Given the description of an element on the screen output the (x, y) to click on. 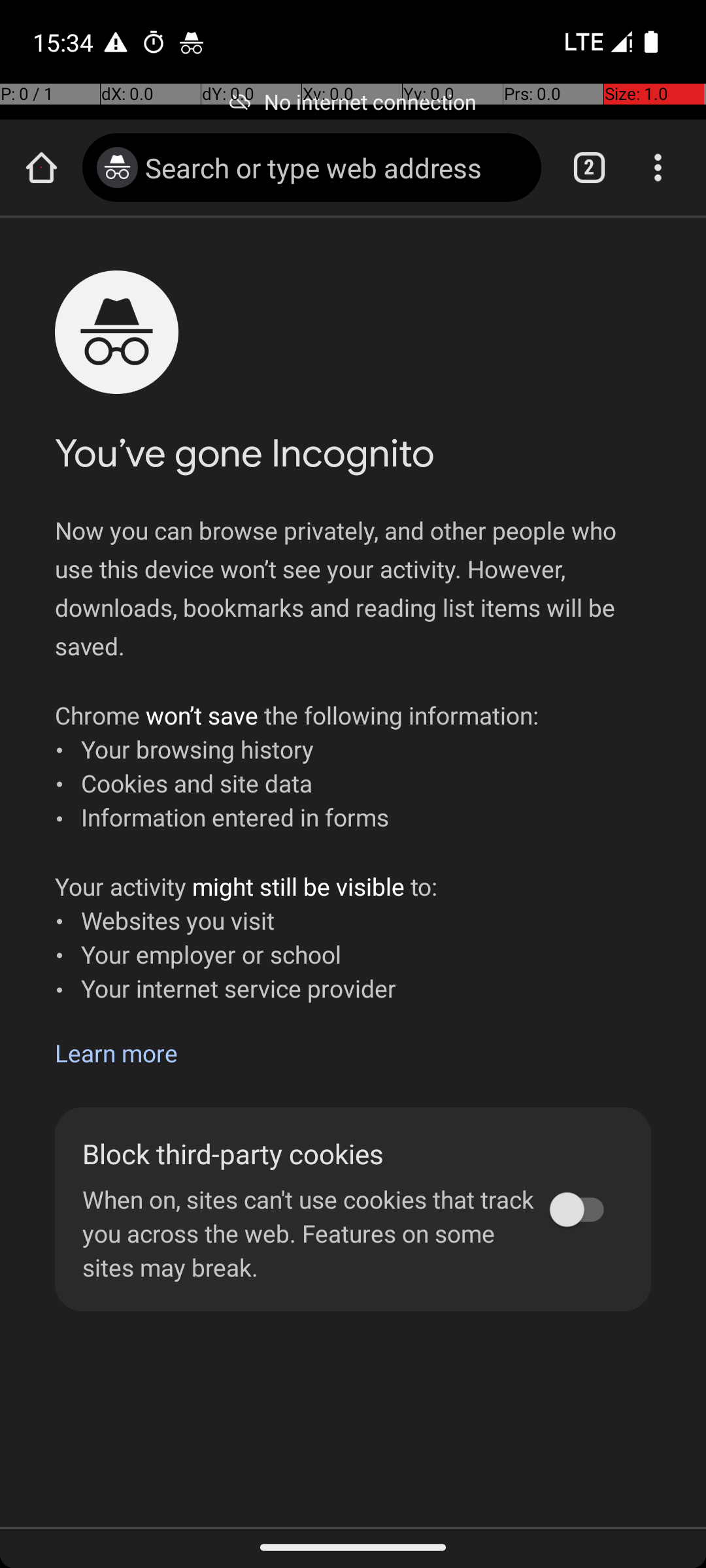
New Incognito tab Element type: android.widget.FrameLayout (353, 870)
Incognito mode Element type: android.widget.ImageView (117, 167)
Search or type web address Element type: android.widget.EditText (336, 167)
You’ve gone Incognito Element type: android.widget.TextView (244, 453)
Now you can browse privately, and other people who use this device won’t see your activity. However, downloads, bookmarks and reading list items will be saved. Element type: android.widget.TextView (352, 587)
Chrome won’t save the following information:
Your browsing history
Cookies and site data
Information entered in forms Element type: android.widget.TextView (296, 765)
Your activity might still be visible to:
Websites you visit
Your employer or school
Your internet service provider Element type: android.widget.TextView (245, 936)
Learn more Element type: android.widget.TextView (115, 1053)
Block third-party cookies Element type: android.widget.TextView (311, 1153)
When on, sites can't use cookies that track you across the web. Features on some sites may break. Element type: android.widget.TextView (311, 1232)
